Given the description of an element on the screen output the (x, y) to click on. 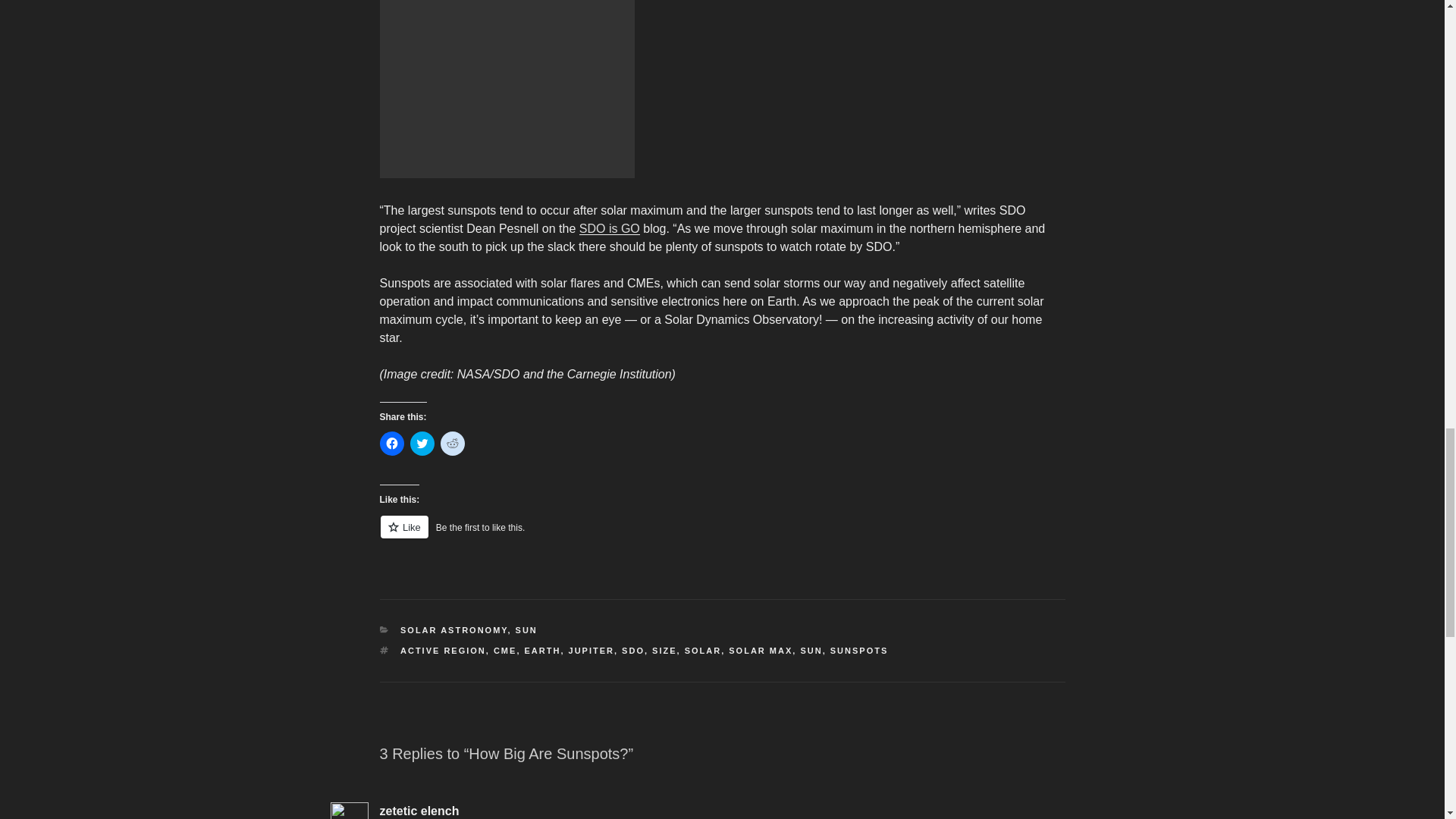
Advertisement (505, 89)
SUN (526, 629)
EARTH (542, 650)
SDO is GO (609, 228)
Click to share on Facebook (390, 443)
SOLAR (703, 650)
SUNSPOTS (858, 650)
ACTIVE REGION (443, 650)
Like or Reblog (721, 535)
SUN (810, 650)
JUPITER (591, 650)
Click to share on Twitter (421, 443)
SOLAR ASTRONOMY (453, 629)
SDO (633, 650)
CME (504, 650)
